Given the description of an element on the screen output the (x, y) to click on. 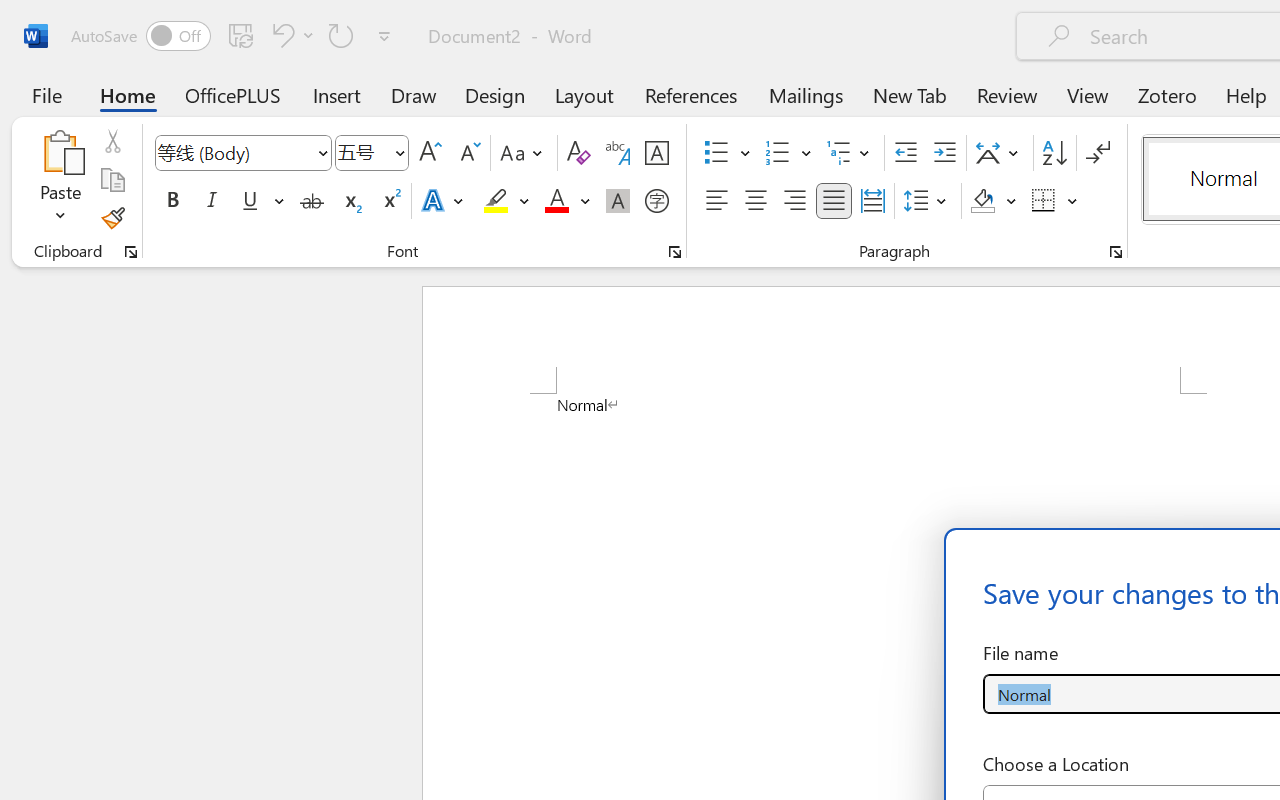
Insert (337, 94)
Cut (112, 141)
Undo Apply Quick Style (290, 35)
Bold (172, 201)
Numbering (778, 153)
Customize Quick Access Toolbar (384, 35)
Mailings (806, 94)
Multilevel List (850, 153)
Decrease Indent (906, 153)
Paragraph... (1115, 252)
Zotero (1166, 94)
Paste (60, 179)
Character Shading (618, 201)
Underline (261, 201)
